Given the description of an element on the screen output the (x, y) to click on. 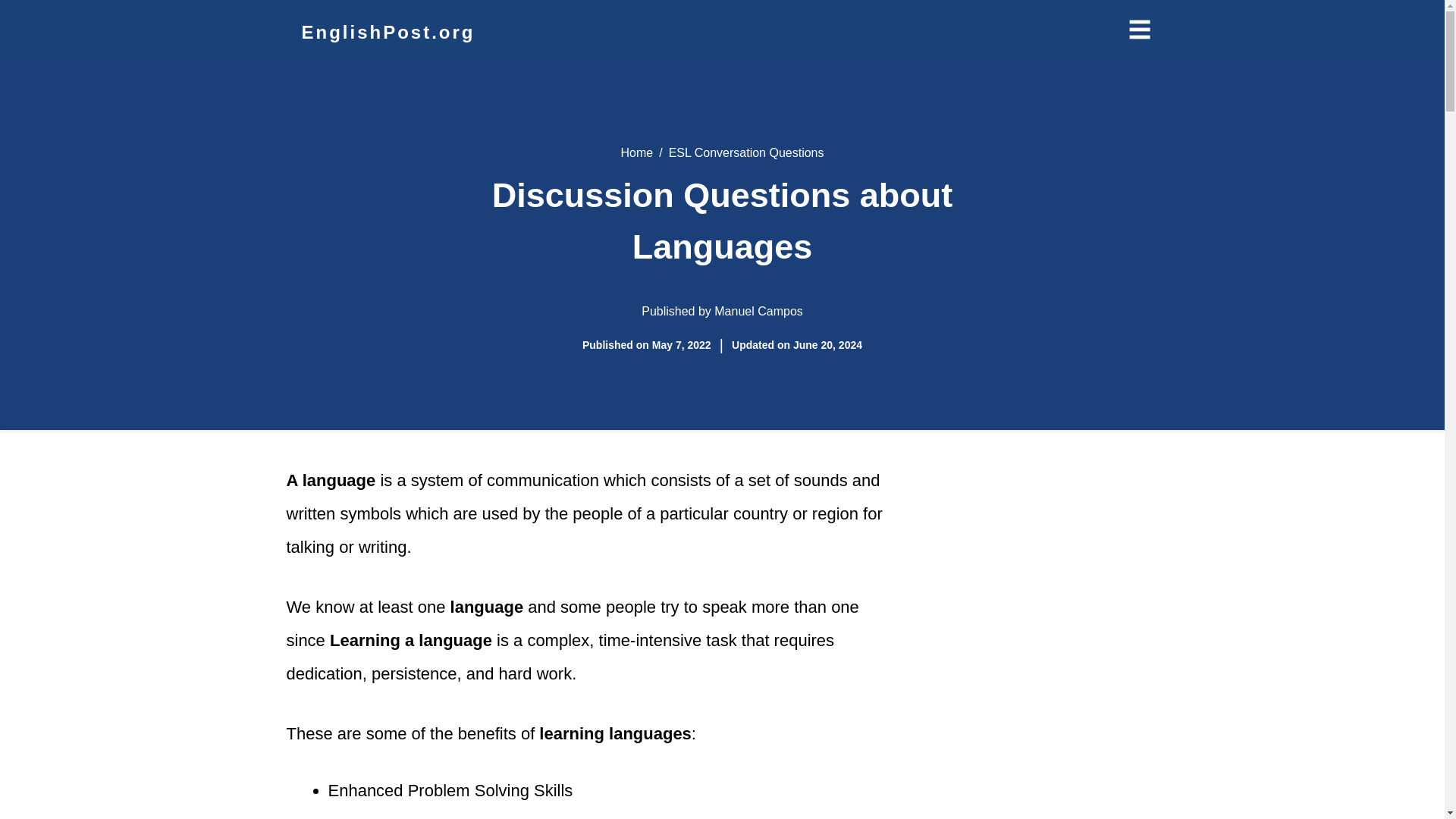
Manuel Campos (758, 310)
EnglishPost.org (388, 31)
ESL Conversation Questions (746, 152)
Home (636, 152)
